Given the description of an element on the screen output the (x, y) to click on. 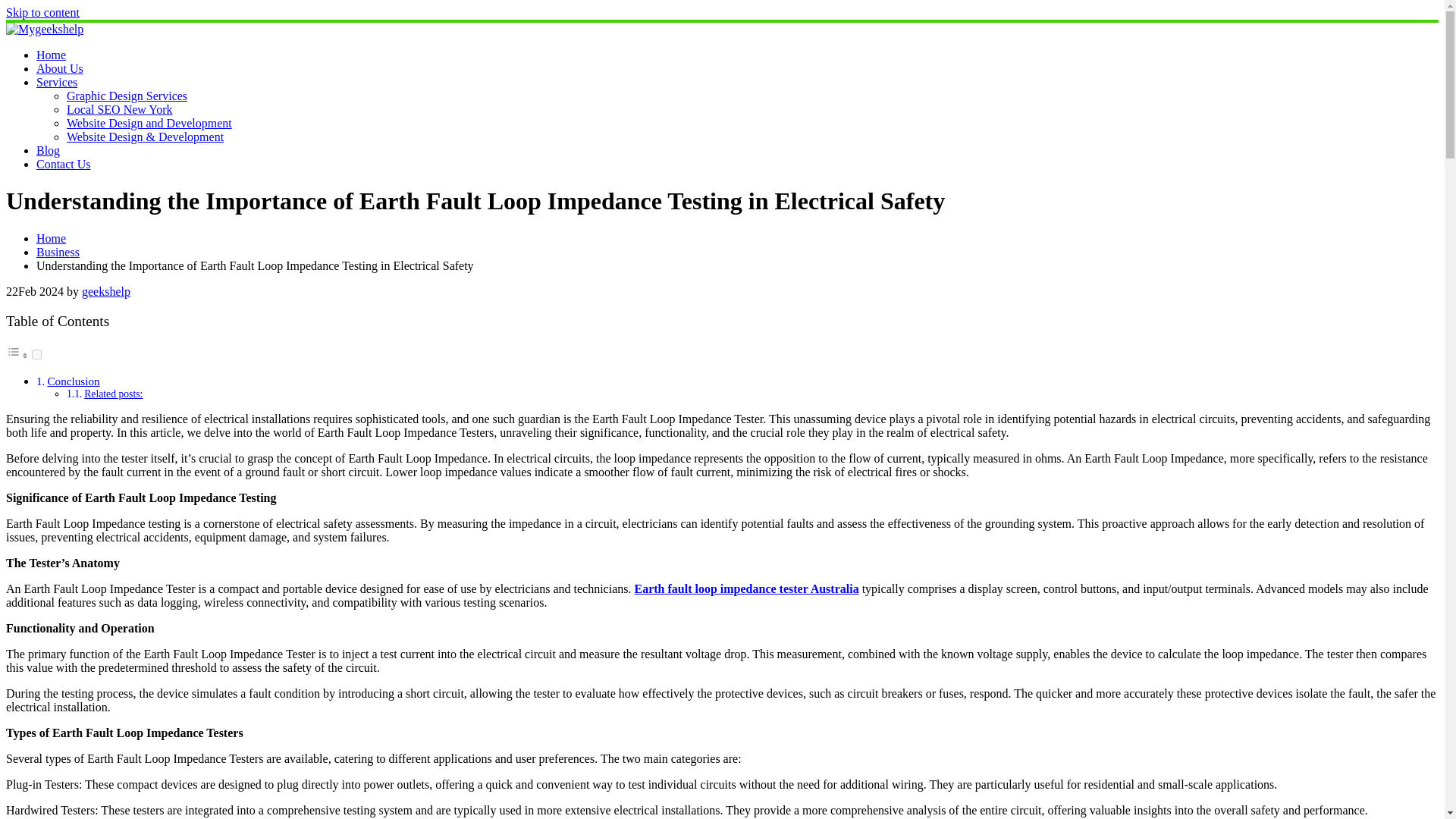
Local SEO New York (119, 109)
Services (56, 82)
Related posts: (113, 393)
Earth fault loop impedance tester Australia (746, 588)
Home (50, 54)
Related posts: (113, 393)
Contact Us (63, 164)
Conclusion (72, 380)
Conclusion (72, 380)
Website Design and Development (148, 123)
Business (58, 251)
Graphic Design Services (126, 95)
geekshelp (106, 291)
Skip to content (42, 11)
Home (50, 237)
